Given the description of an element on the screen output the (x, y) to click on. 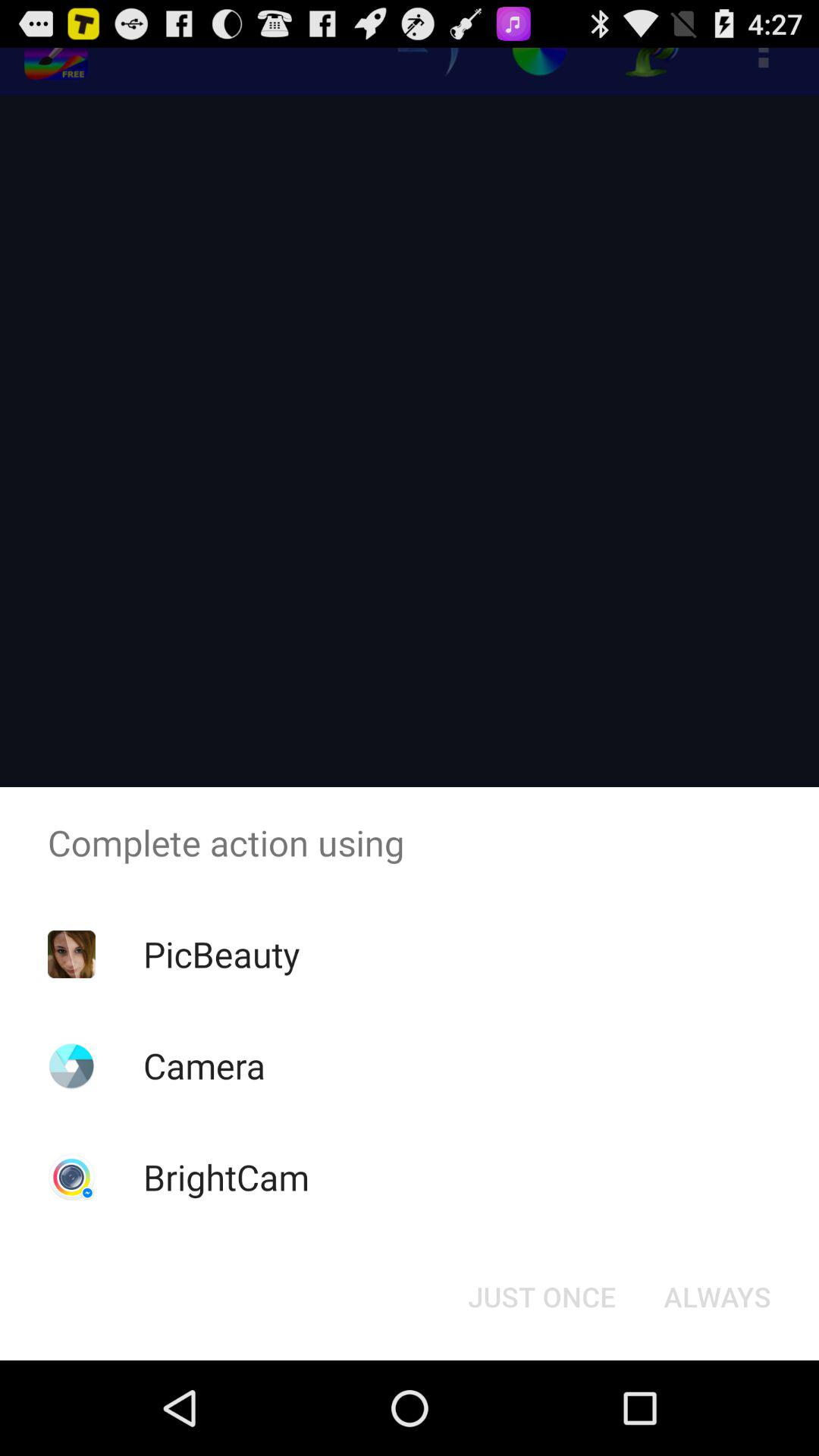
turn off the icon below the picbeauty app (204, 1065)
